Given the description of an element on the screen output the (x, y) to click on. 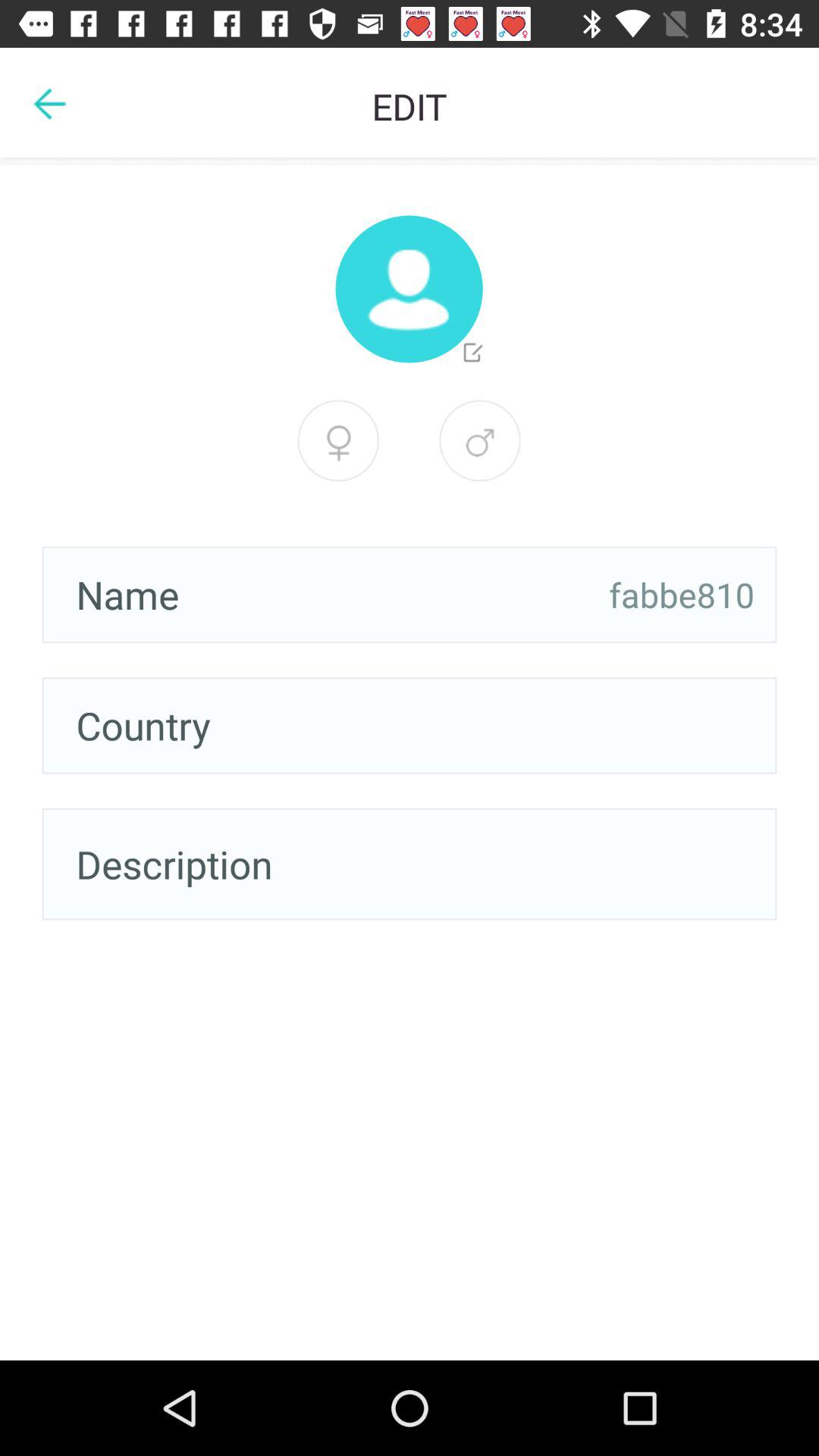
edit profile picture (408, 288)
